Given the description of an element on the screen output the (x, y) to click on. 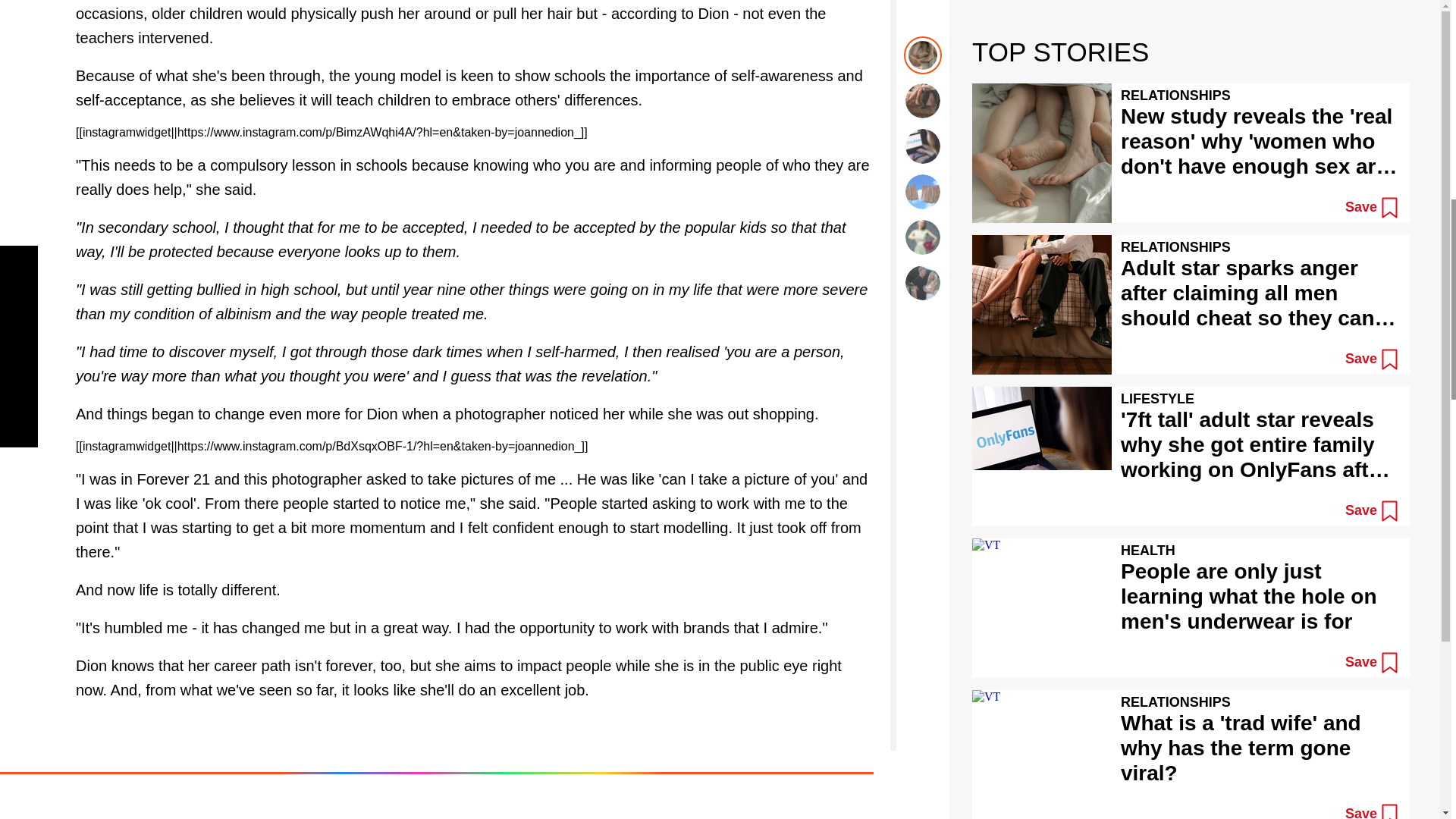
LIFESTYLE (111, 817)
